Given the description of an element on the screen output the (x, y) to click on. 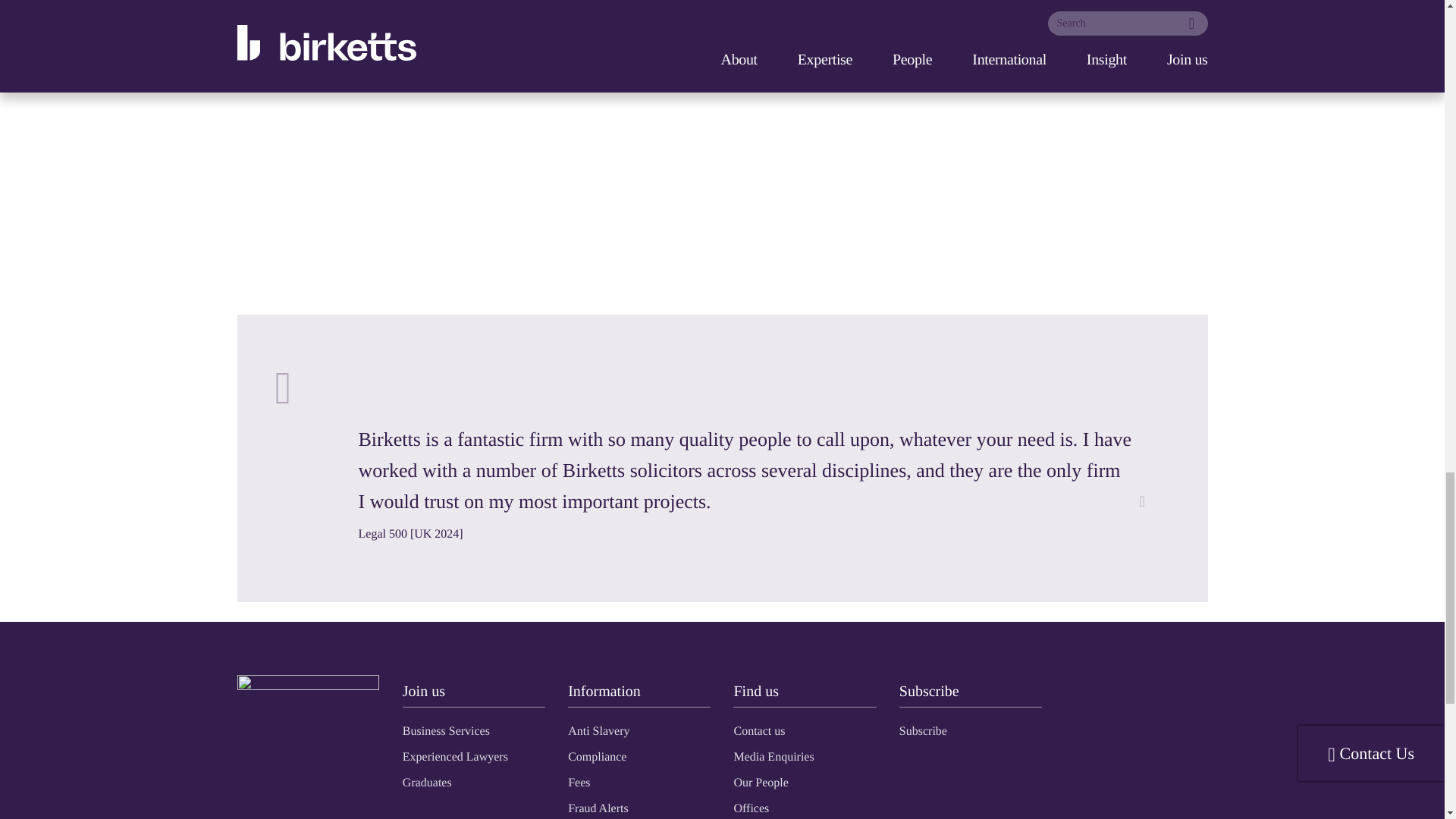
Fraud Alerts (597, 808)
Offices (750, 808)
Subscribe (923, 730)
Our People (760, 782)
Contact us (758, 730)
Compliance (596, 757)
Business Services (446, 730)
Graduates (427, 782)
Anti Slavery  (597, 730)
Fees (578, 782)
